Given the description of an element on the screen output the (x, y) to click on. 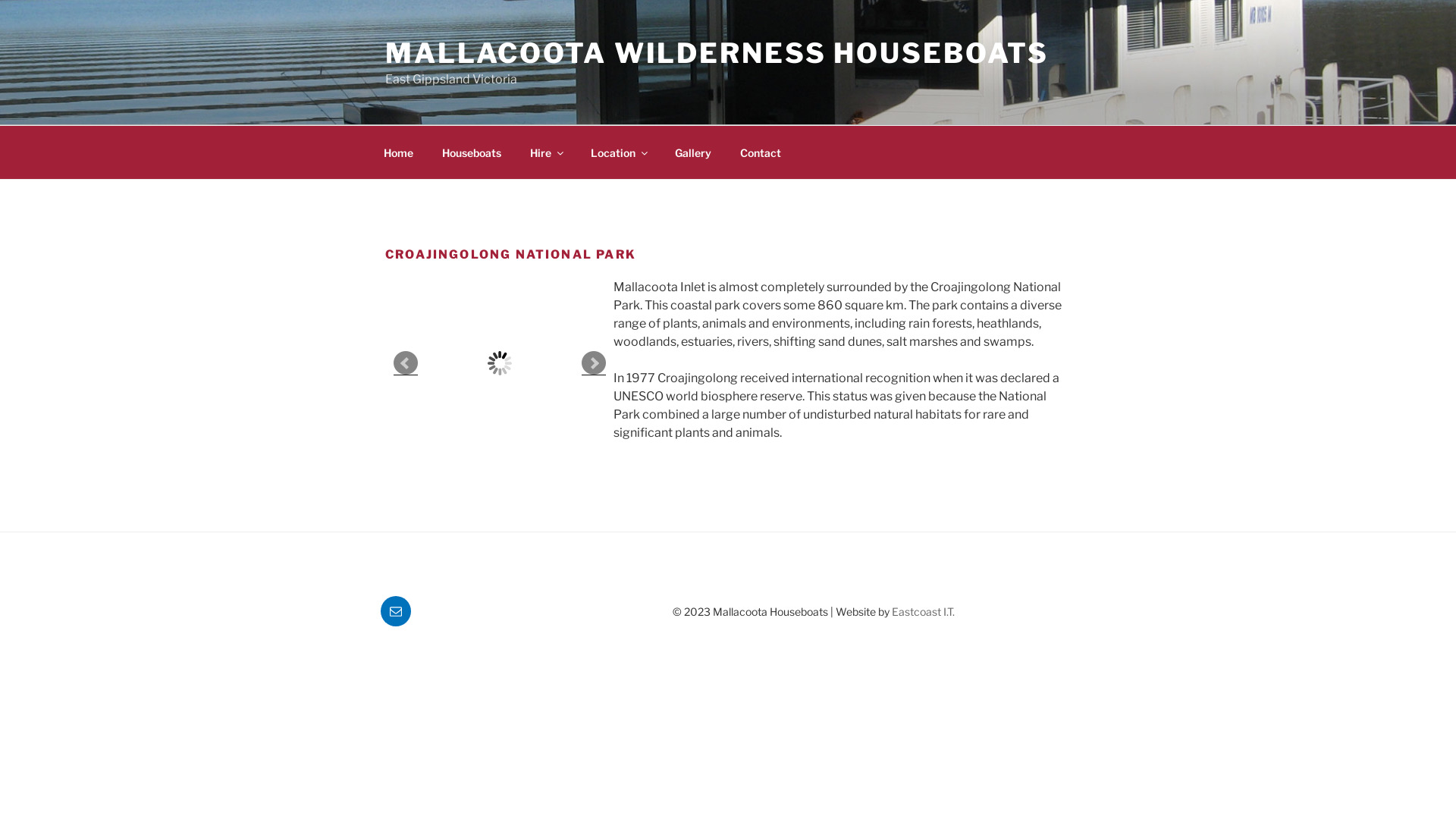
Gallery Element type: text (692, 151)
Houseboats Element type: text (471, 151)
Next Element type: text (593, 363)
Location Element type: text (617, 151)
Contact Element type: text (759, 151)
Hire Element type: text (545, 151)
Eastcoast I.T. Element type: text (922, 611)
Home Element type: text (398, 151)
MALLACOOTA WILDERNESS HOUSEBOATS Element type: text (716, 52)
Email Element type: text (395, 611)
Prev Element type: text (405, 363)
